Given the description of an element on the screen output the (x, y) to click on. 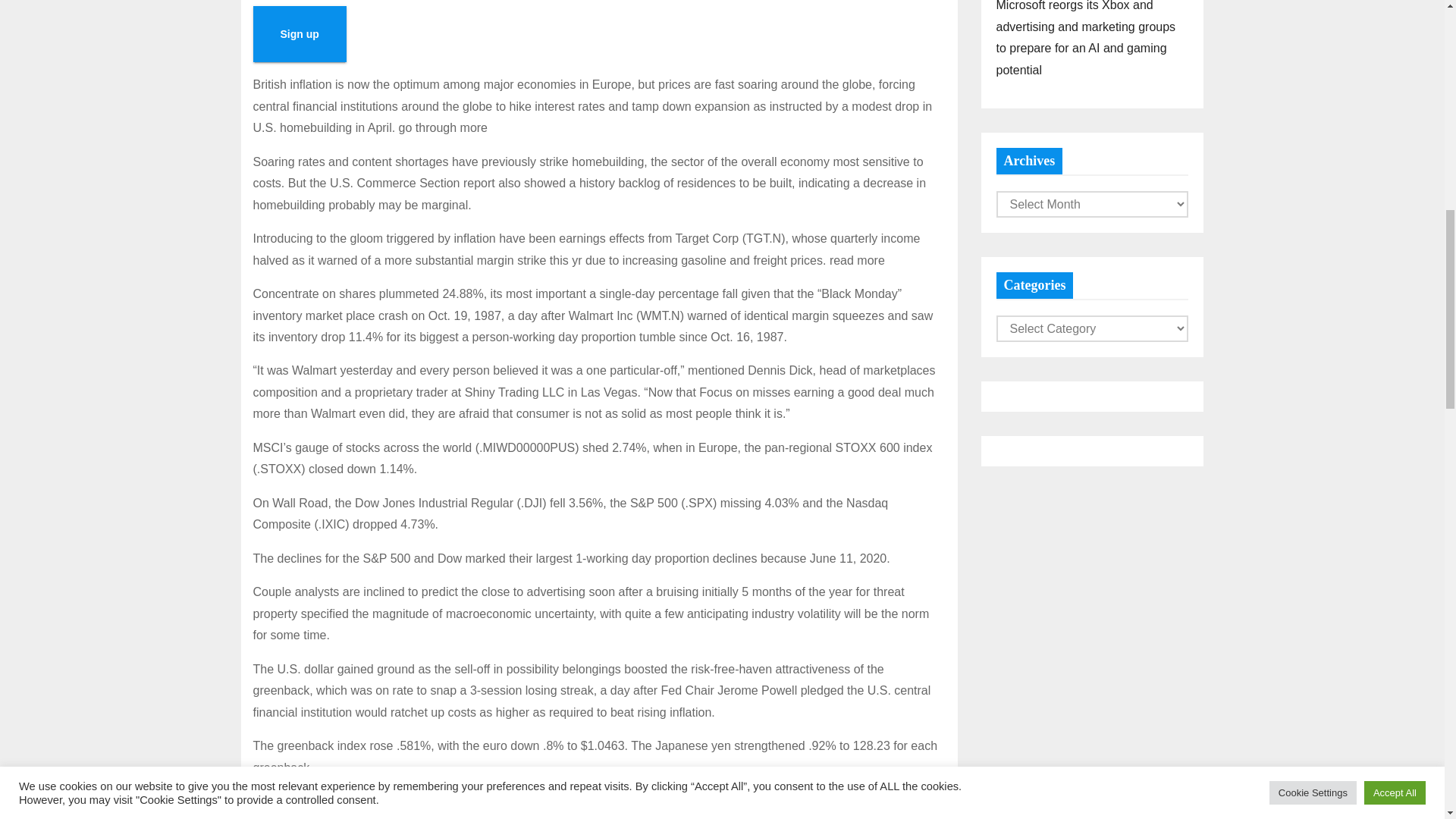
Sign up (299, 33)
